Given the description of an element on the screen output the (x, y) to click on. 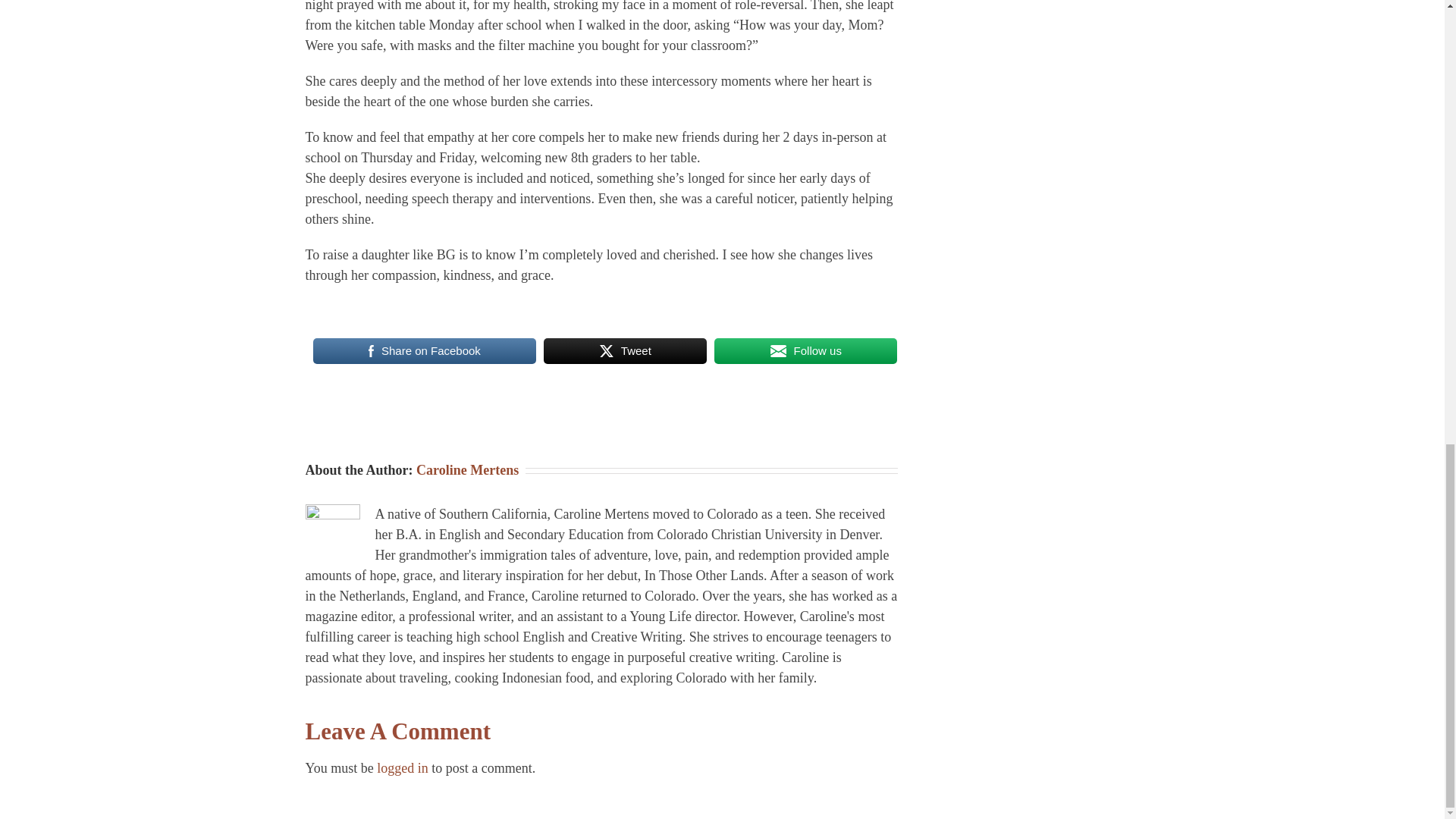
Share on Facebook (424, 350)
Follow us (805, 350)
Tweet (624, 350)
Caroline Mertens (467, 469)
logged in (402, 767)
Posts by Caroline Mertens (467, 469)
